Given the description of an element on the screen output the (x, y) to click on. 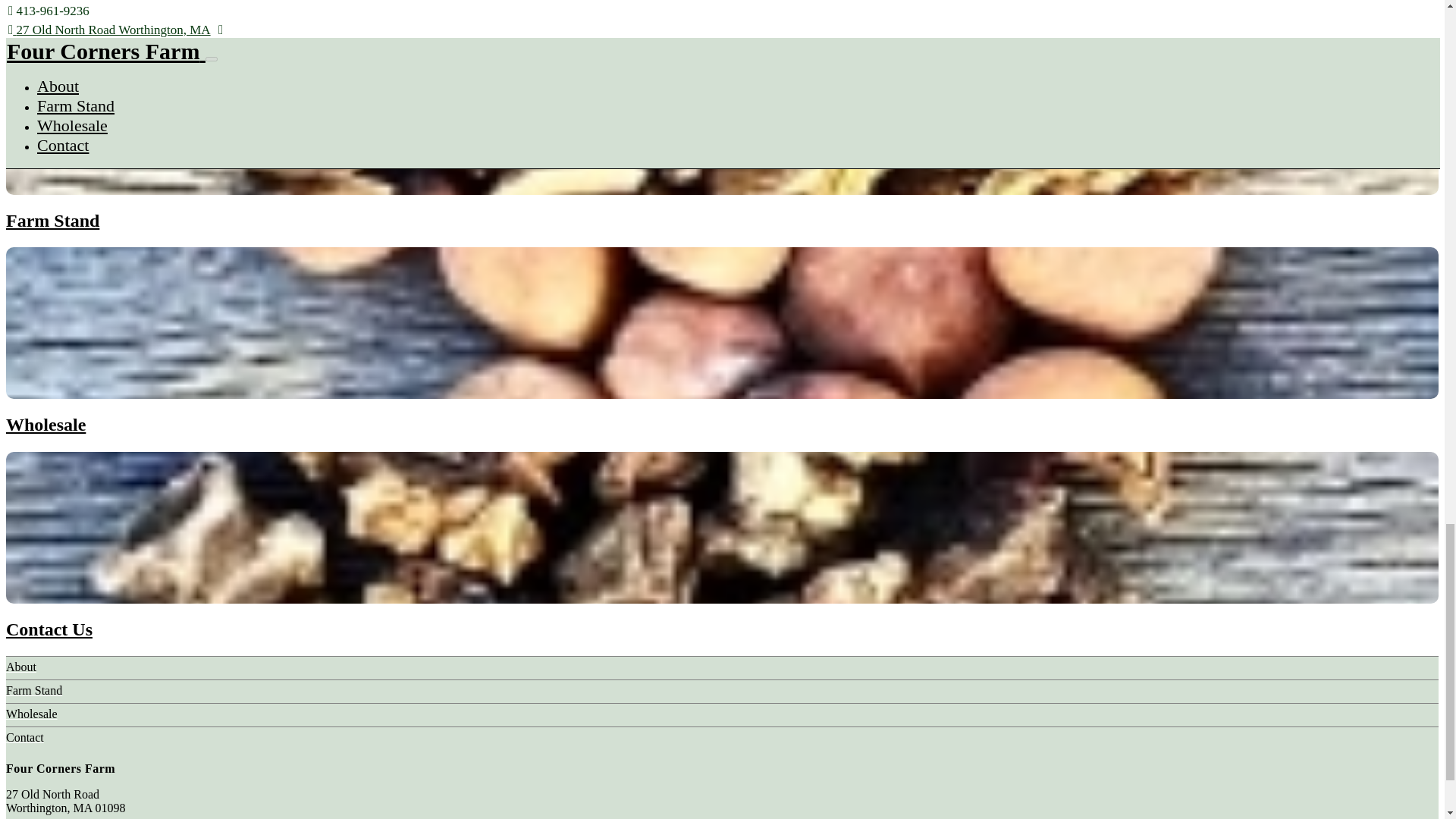
Wholesale (31, 713)
About Us (42, 15)
Contact Us (49, 629)
Wholesale (45, 424)
Contact (24, 737)
Farm Stand (33, 689)
Contact (24, 737)
Farm Stand (52, 220)
About (20, 666)
